Given the description of an element on the screen output the (x, y) to click on. 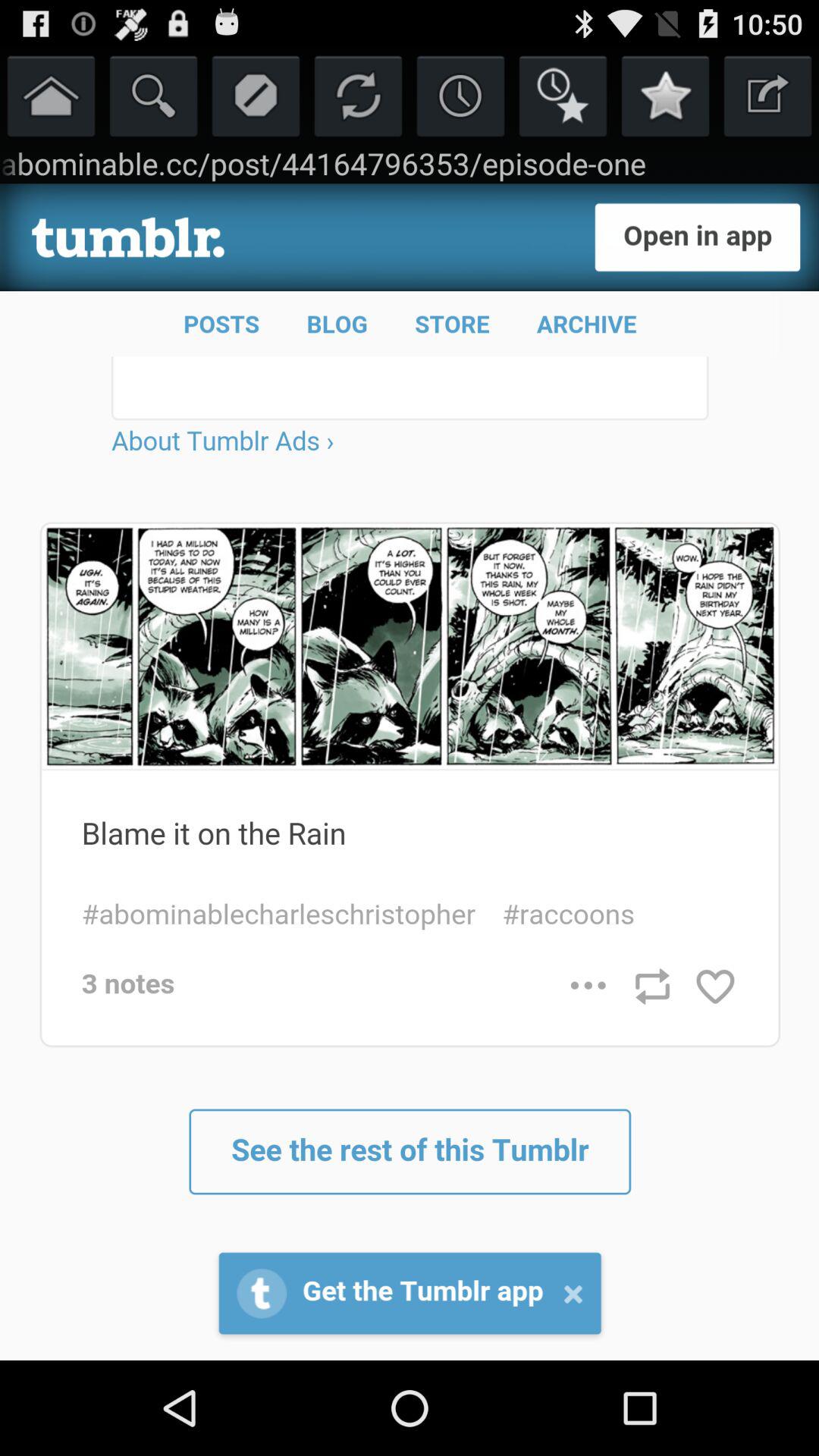
select time favorite (562, 95)
